Given the description of an element on the screen output the (x, y) to click on. 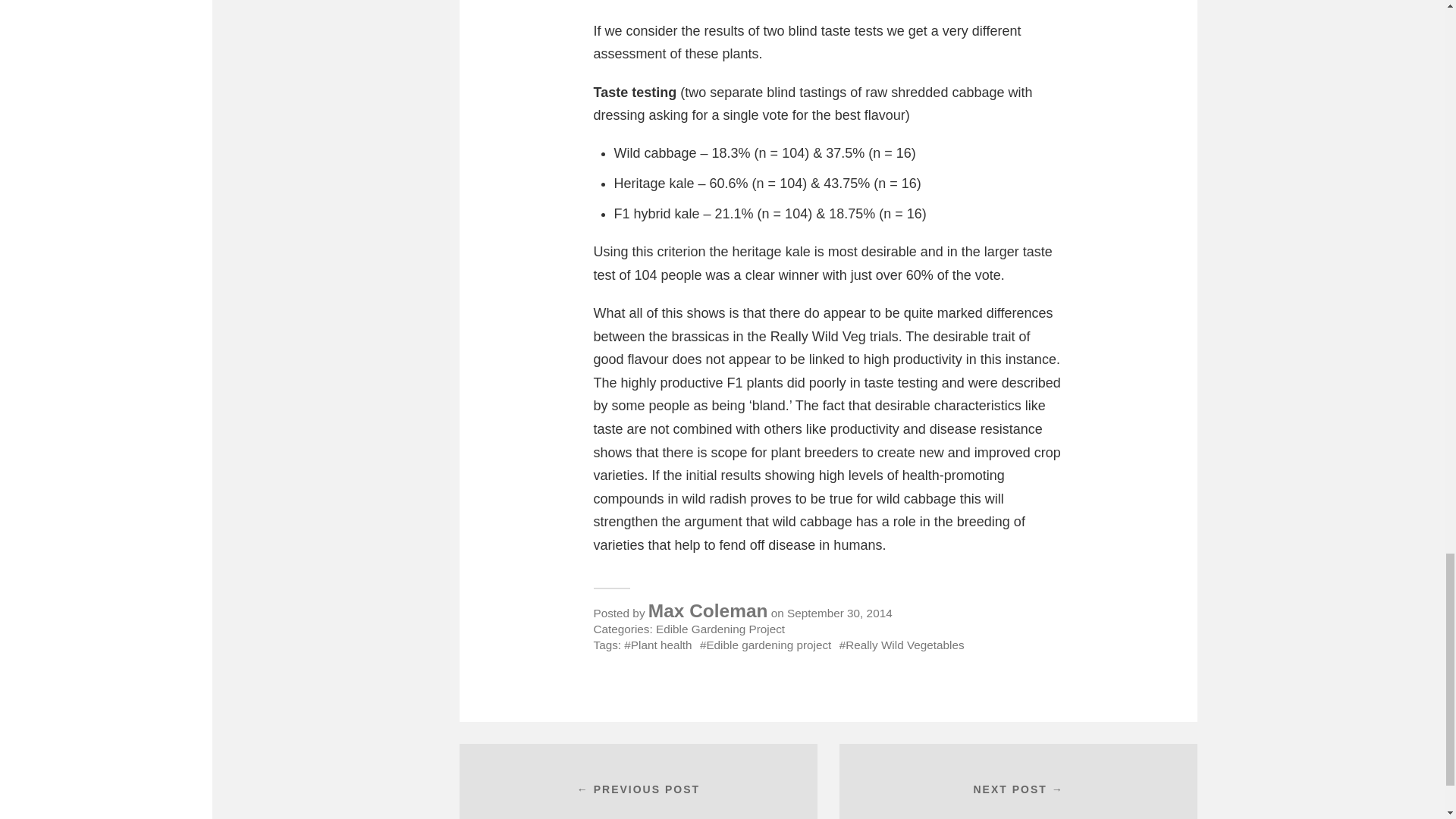
Really Wild Vegetables (901, 644)
Edible Gardening Project (720, 628)
Edible gardening project (765, 644)
Posts by Max Coleman (707, 610)
Plant health (657, 644)
Max Coleman (707, 610)
